Given the description of an element on the screen output the (x, y) to click on. 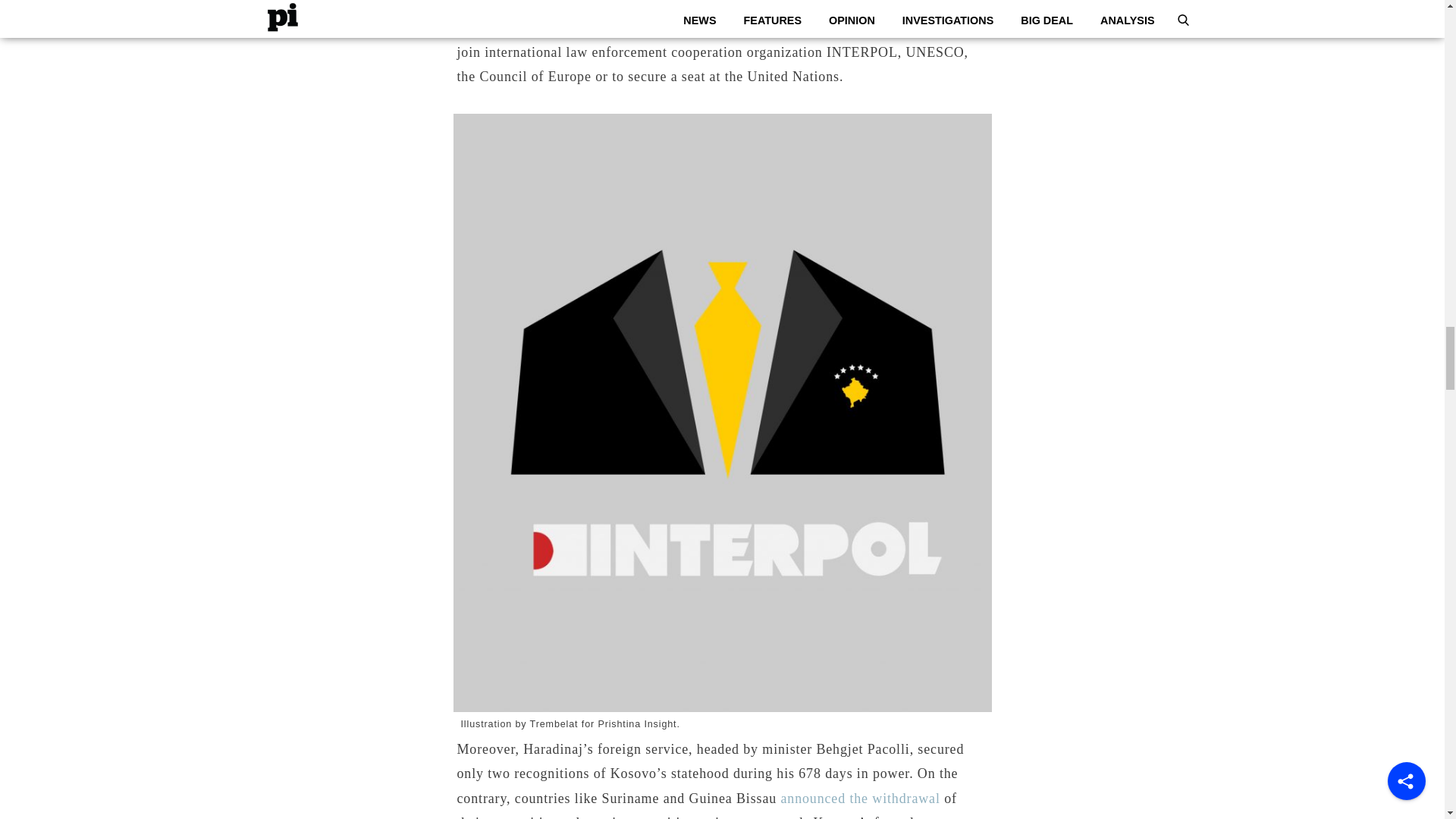
announced the withdrawal (859, 798)
